Given the description of an element on the screen output the (x, y) to click on. 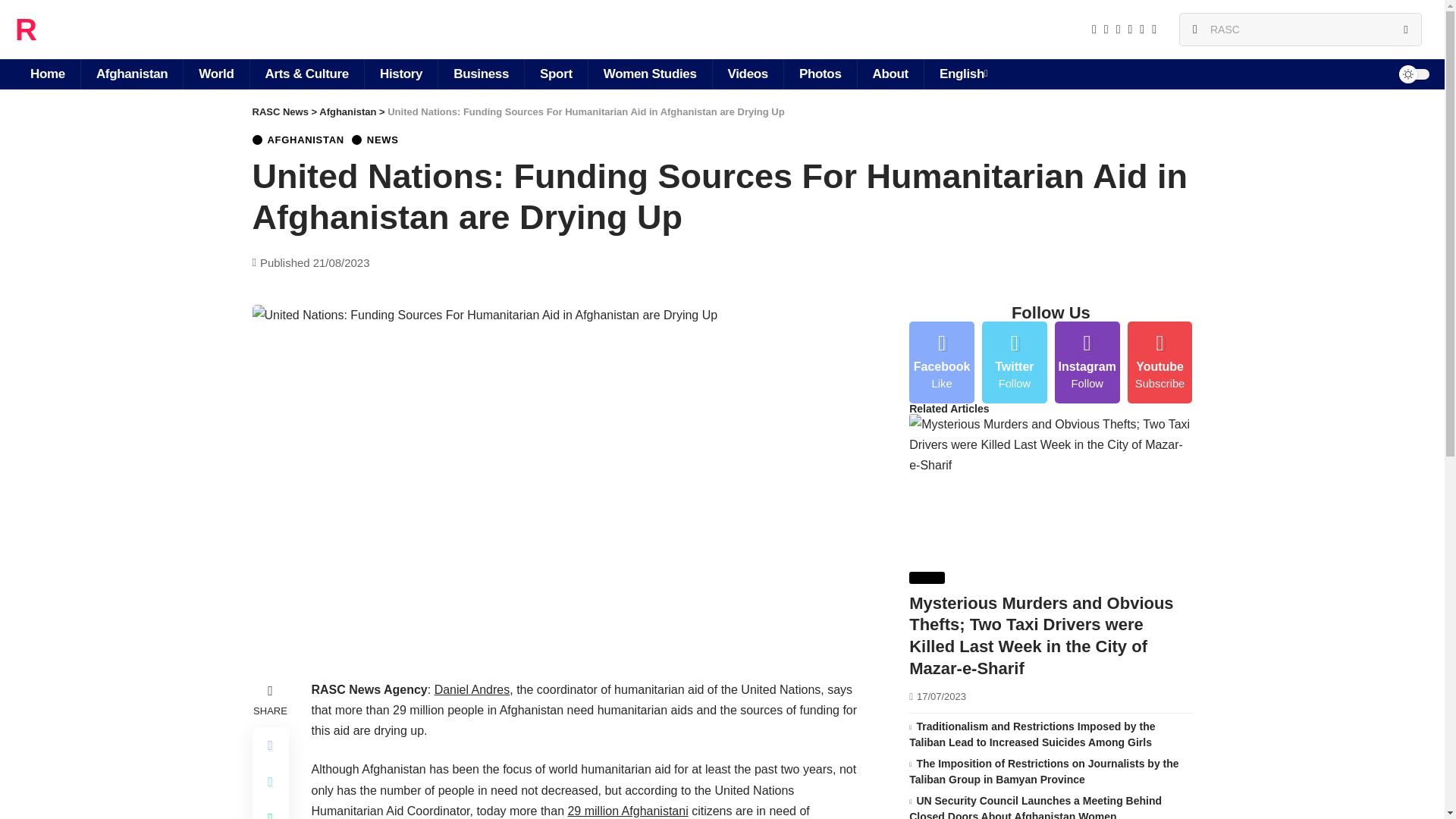
Business (481, 73)
History (401, 73)
Go to RASC News. (279, 111)
RASC News (100, 29)
English (963, 73)
Videos (747, 73)
Search (1405, 29)
About (890, 73)
Home (47, 73)
